Given the description of an element on the screen output the (x, y) to click on. 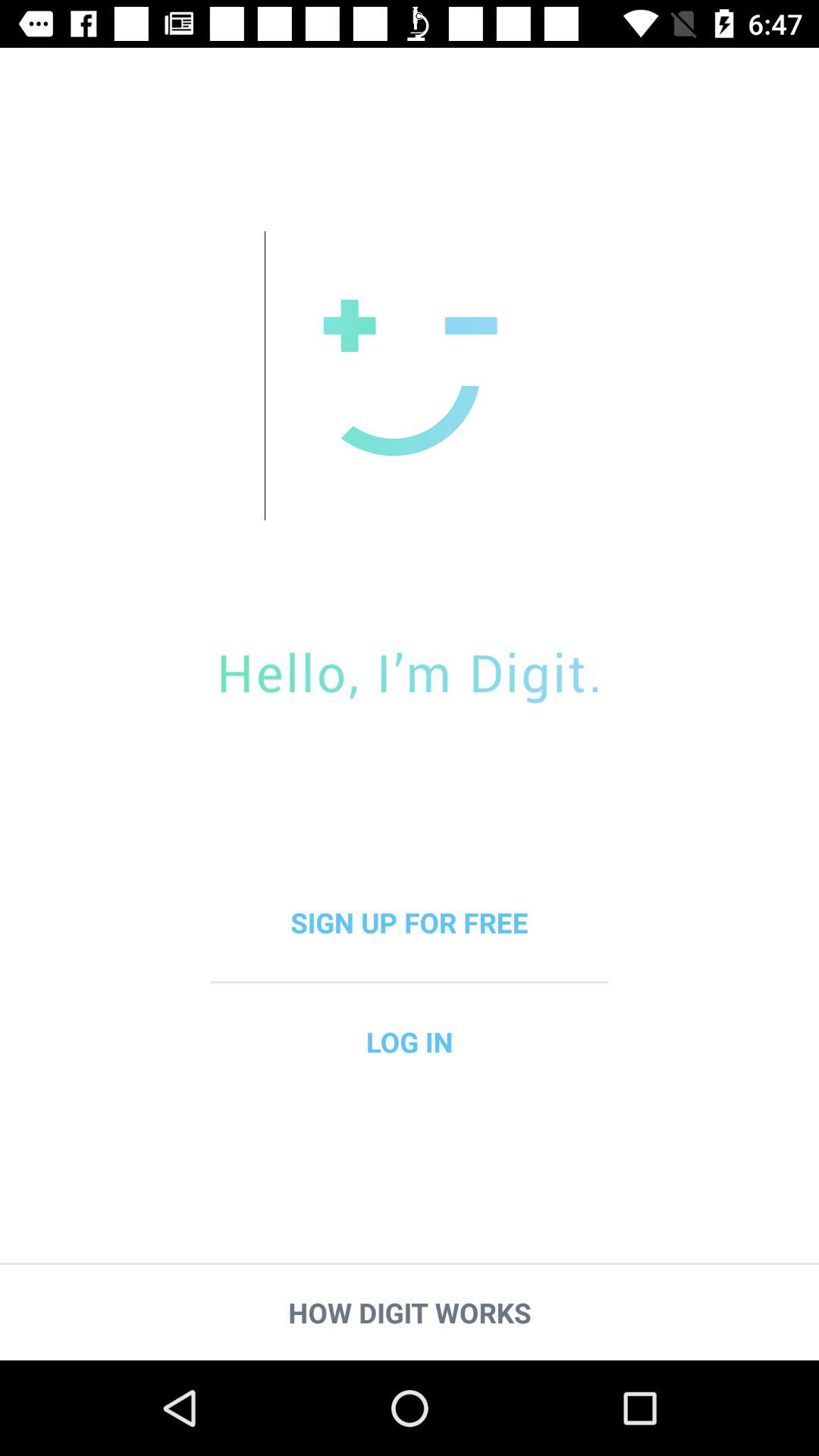
press log in item (409, 1041)
